Given the description of an element on the screen output the (x, y) to click on. 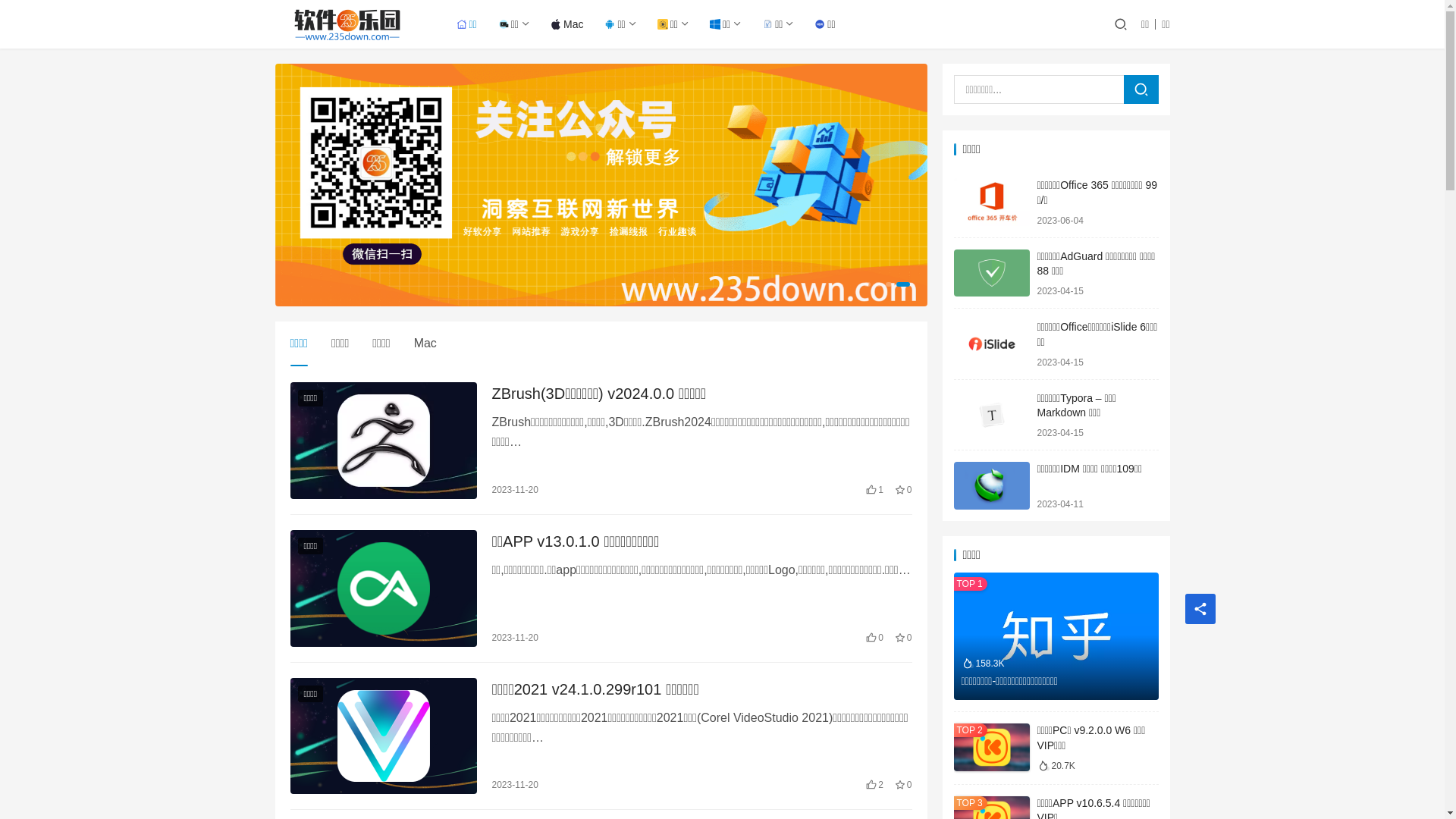
Mac Element type: text (566, 24)
Mac Element type: text (425, 343)
